Given the description of an element on the screen output the (x, y) to click on. 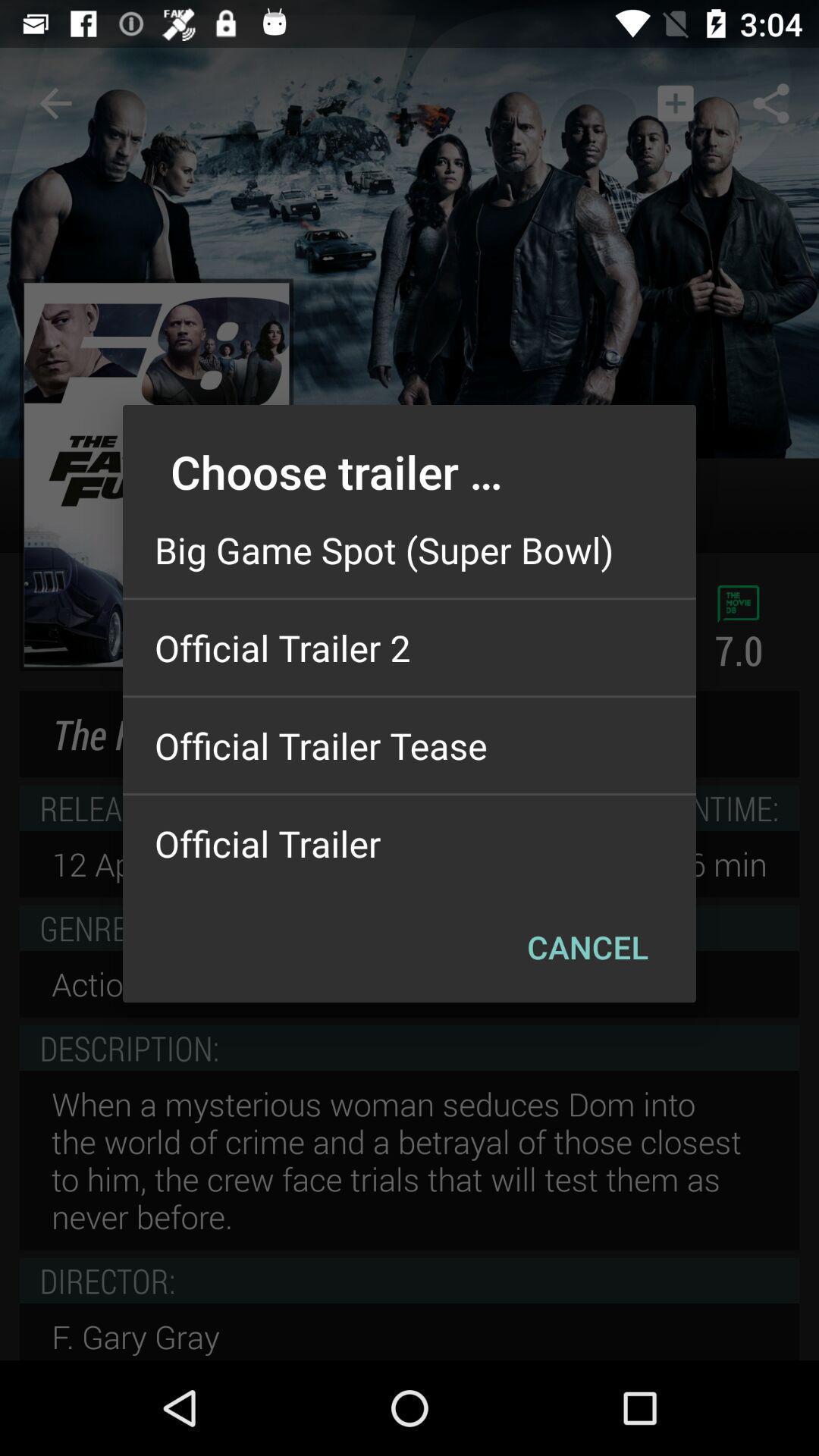
click big game spot item (409, 549)
